Given the description of an element on the screen output the (x, y) to click on. 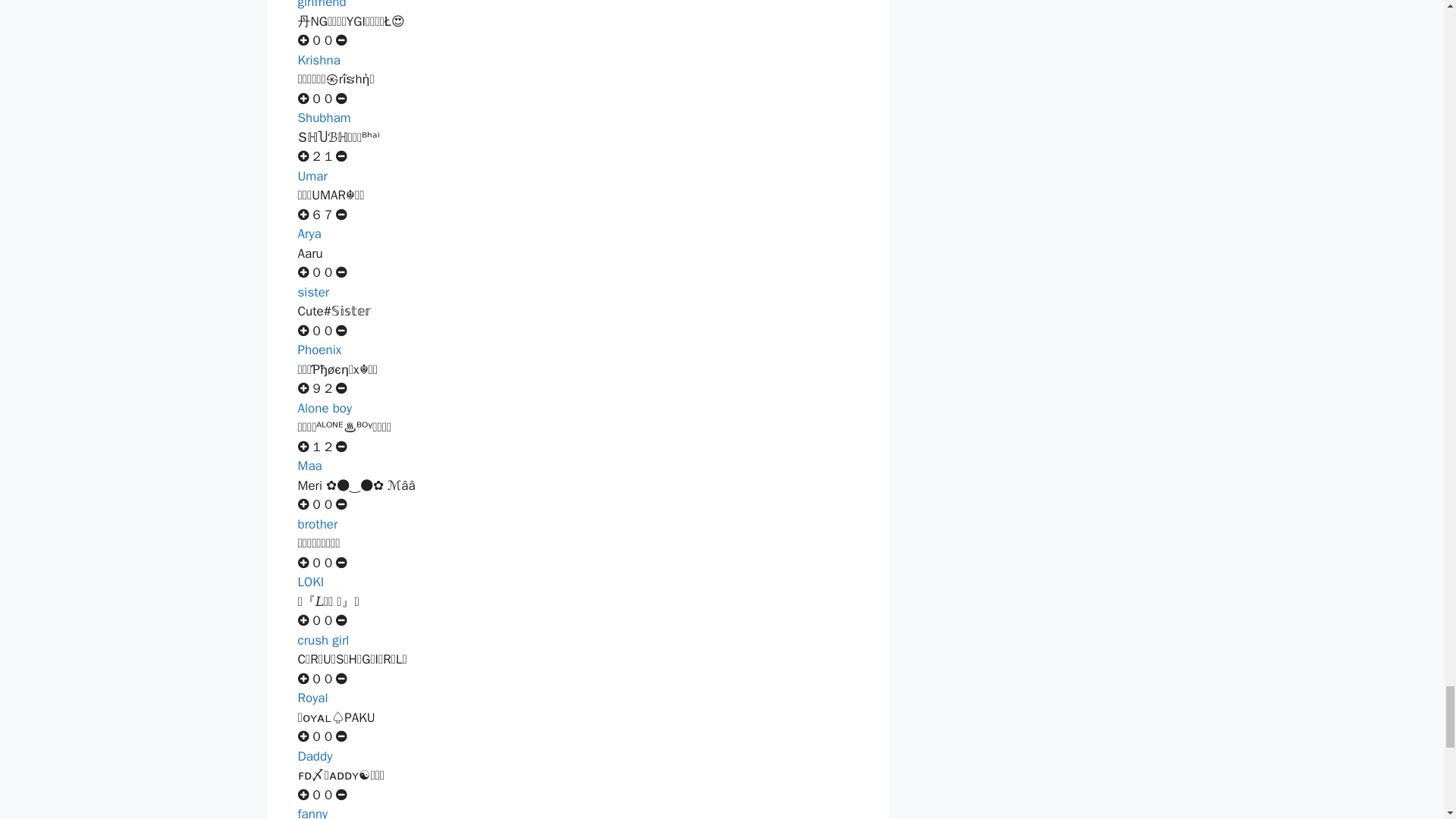
Maa (309, 465)
LOKI (310, 581)
sister (313, 292)
Phoenix (318, 349)
fanny (312, 812)
Umar (311, 176)
girlfriend (321, 4)
brother (317, 524)
Daddy (314, 756)
Arya (308, 233)
crush girl (323, 640)
Royal (312, 697)
Krishna (318, 59)
Shubham (323, 117)
Alone boy (324, 408)
